Given the description of an element on the screen output the (x, y) to click on. 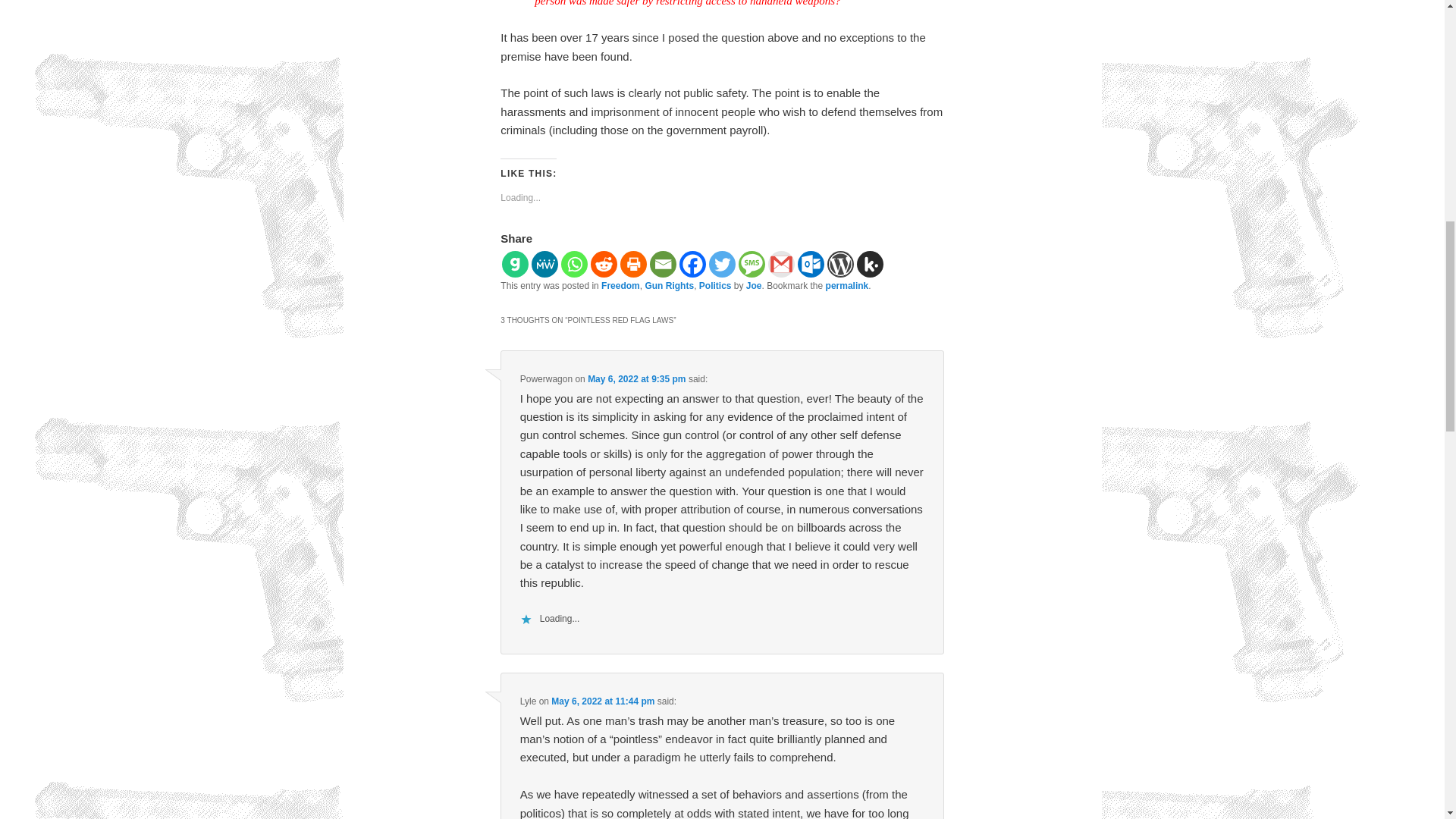
Reddit (604, 263)
SMS (751, 263)
Freedom (620, 285)
Twitter (722, 263)
Gun Rights (669, 285)
May 6, 2022 at 11:44 pm (602, 701)
Google Gmail (781, 263)
MeWe (544, 263)
Whatsapp (574, 263)
Email (663, 263)
May 6, 2022 at 9:35 pm (636, 378)
Outlook.com (810, 263)
permalink (847, 285)
Print (633, 263)
Politics (715, 285)
